Given the description of an element on the screen output the (x, y) to click on. 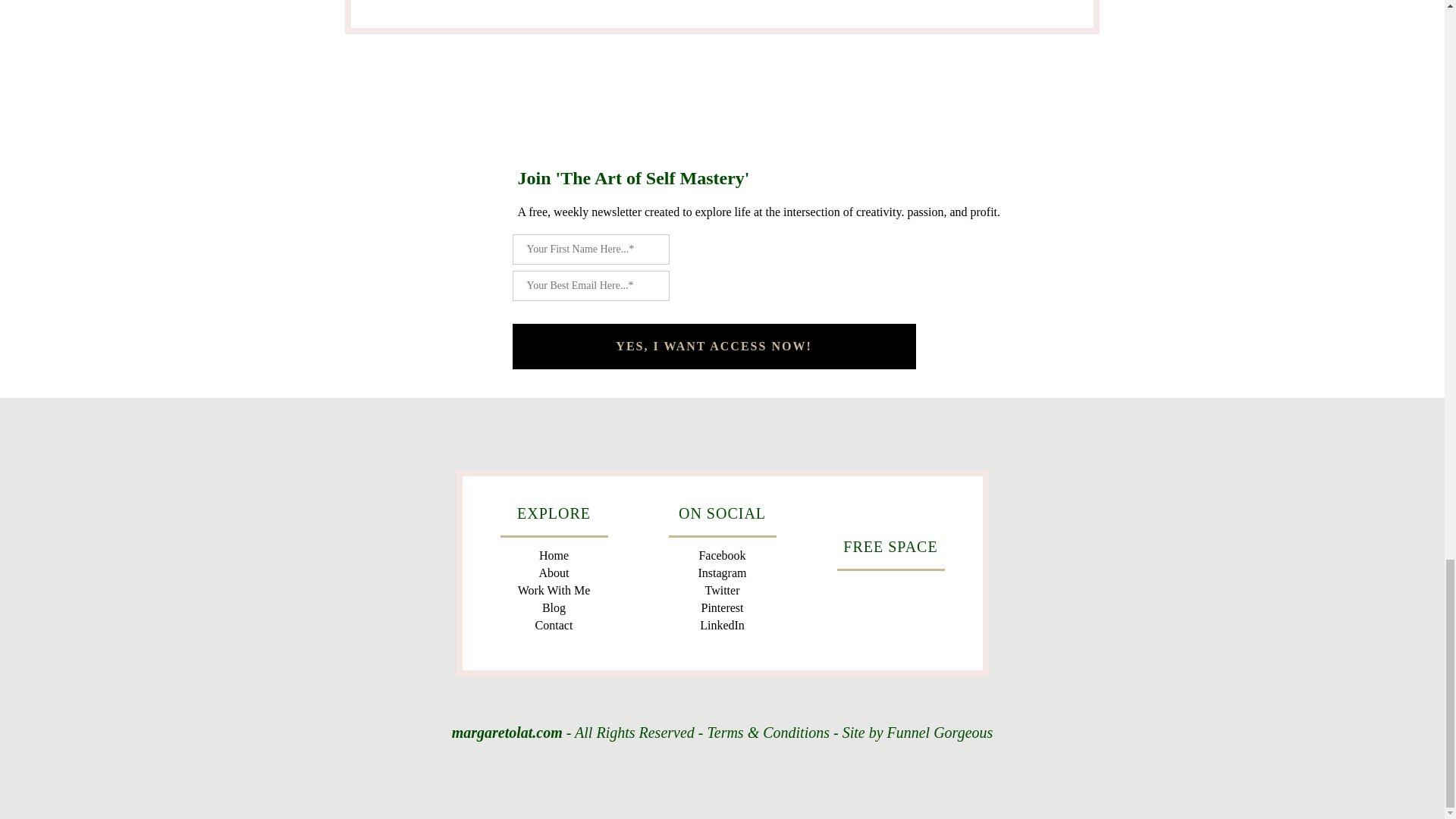
Home (553, 555)
Instagram (721, 572)
About (553, 572)
Facebook (721, 555)
Blog (553, 608)
Work With Me (554, 590)
Contact (554, 625)
Twitter (721, 590)
Pinterest (721, 608)
YES, I WANT ACCESS NOW! (713, 346)
LinkedIn (722, 625)
